Given the description of an element on the screen output the (x, y) to click on. 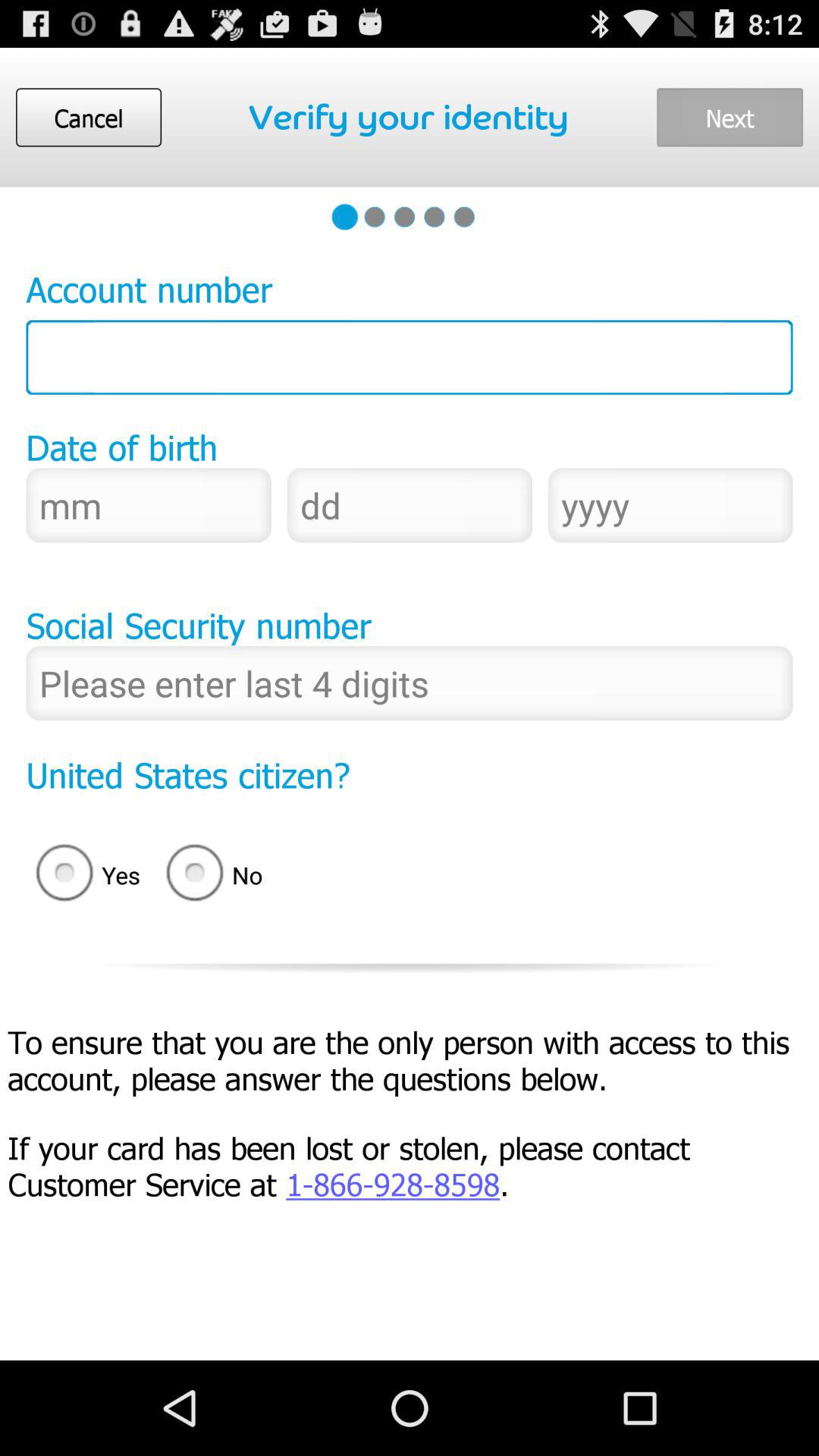
jump until the no icon (219, 875)
